Given the description of an element on the screen output the (x, y) to click on. 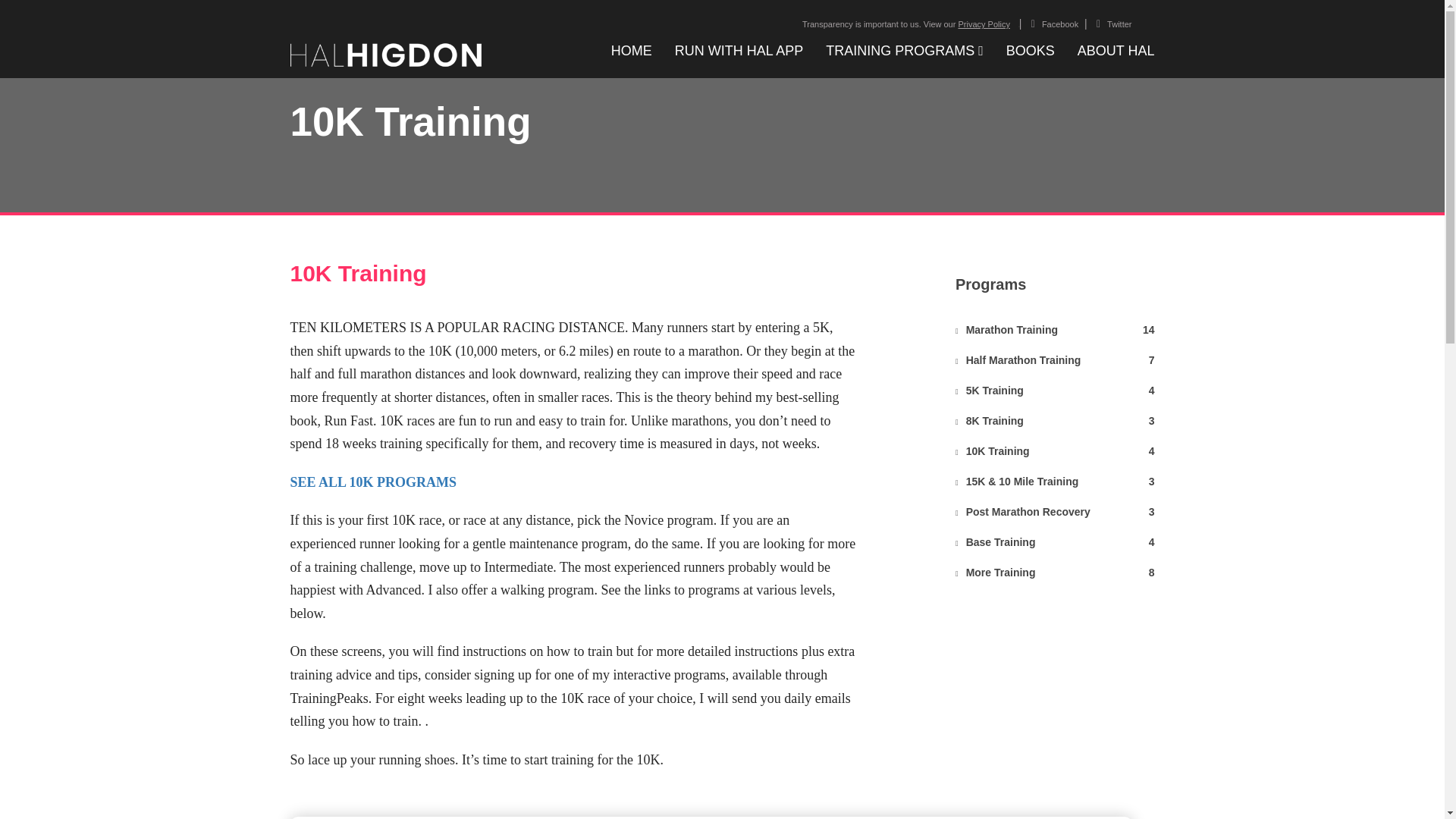
Facebook (1054, 24)
Transparency is important to us. View our Privacy Policy (1054, 512)
ABOUT HAL (1054, 421)
HOME (905, 24)
Twitter (1054, 572)
SEE ALL 10K PROGRAMS (1115, 50)
TRAINING PROGRAMS (631, 50)
RUN WITH HAL APP (1113, 24)
